Given the description of an element on the screen output the (x, y) to click on. 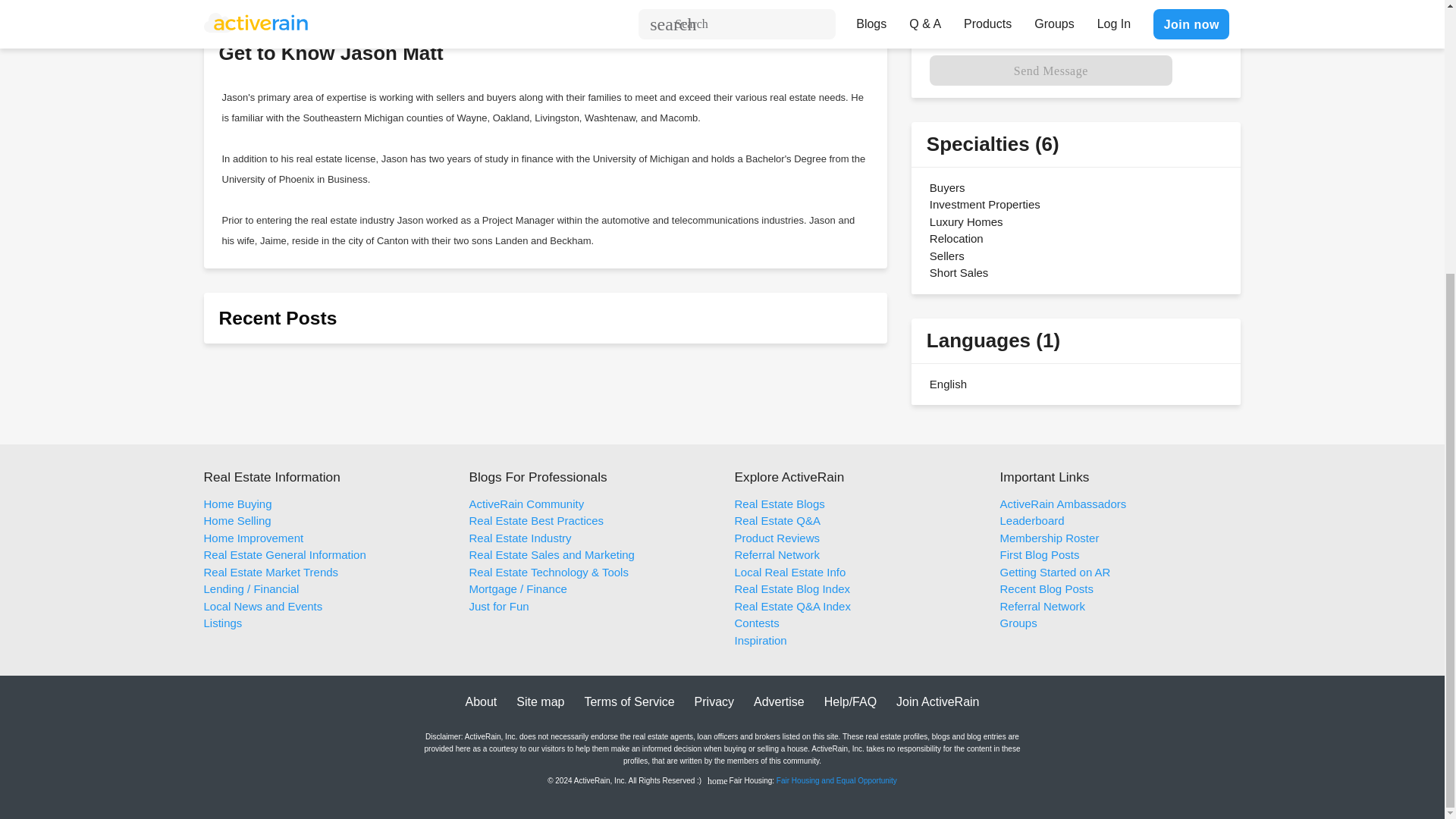
Listings (222, 622)
Real Estate Industry (519, 537)
Just for Fun (498, 605)
Home Buying (236, 503)
Real Estate Best Practices (536, 520)
Send Message (1051, 70)
Send Message (1051, 70)
Local News and Events (262, 605)
Real Estate Sales and Marketing (550, 554)
ActiveRain Community (525, 503)
